Given the description of an element on the screen output the (x, y) to click on. 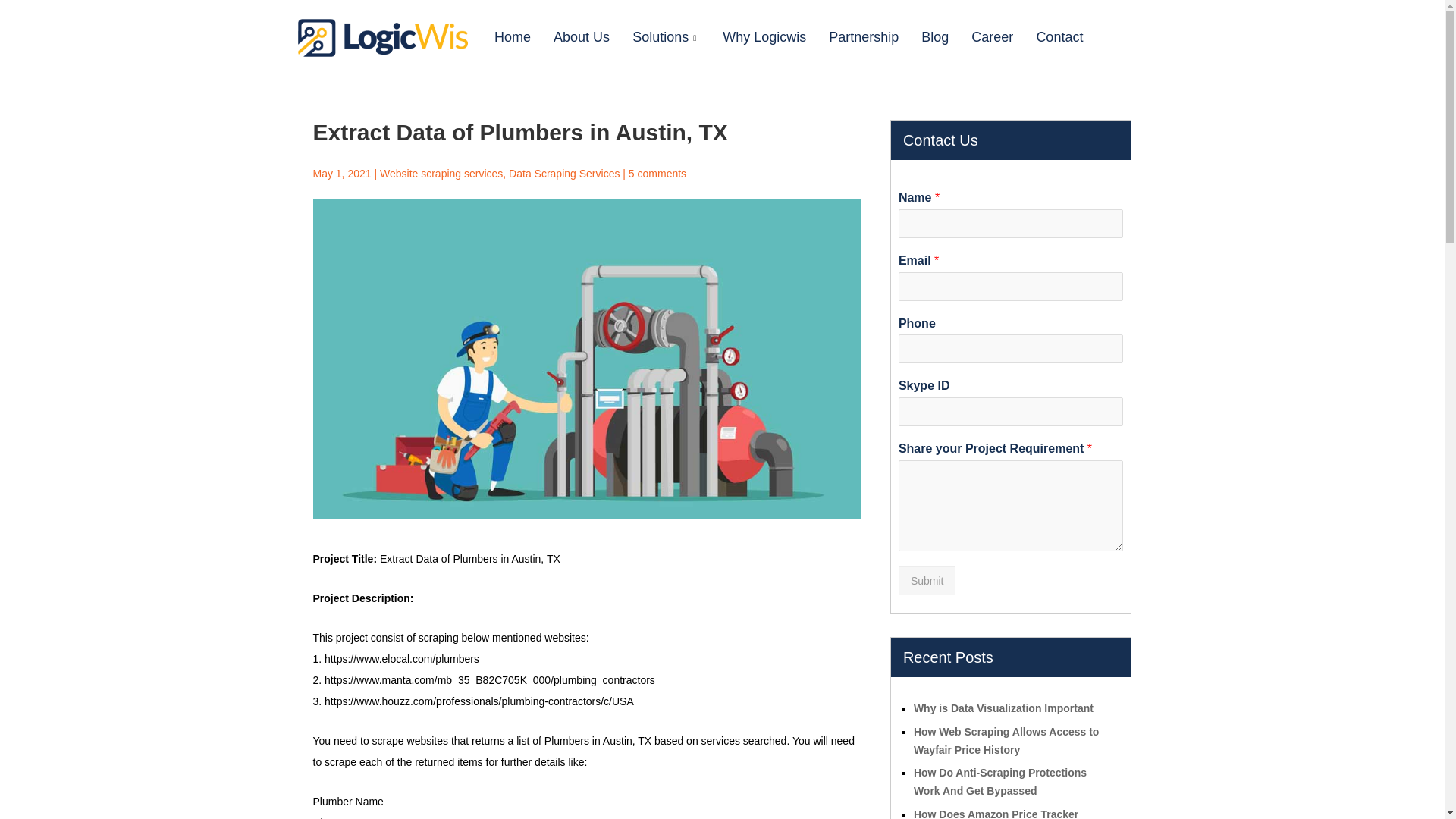
About Us (581, 37)
Website scraping services, Data Scraping Services (500, 173)
Why is Data Visualization Important (1003, 707)
Contact (1059, 37)
Blog (934, 37)
Career (992, 37)
Submit (927, 580)
Partnership (863, 37)
How Web Scraping Allows Access to Wayfair Price History (1006, 740)
5 comments (656, 173)
How Do Anti-Scraping Protections Work And Get Bypassed (1000, 781)
Why Logicwis (763, 37)
Solutions (666, 37)
Home (512, 37)
